Given the description of an element on the screen output the (x, y) to click on. 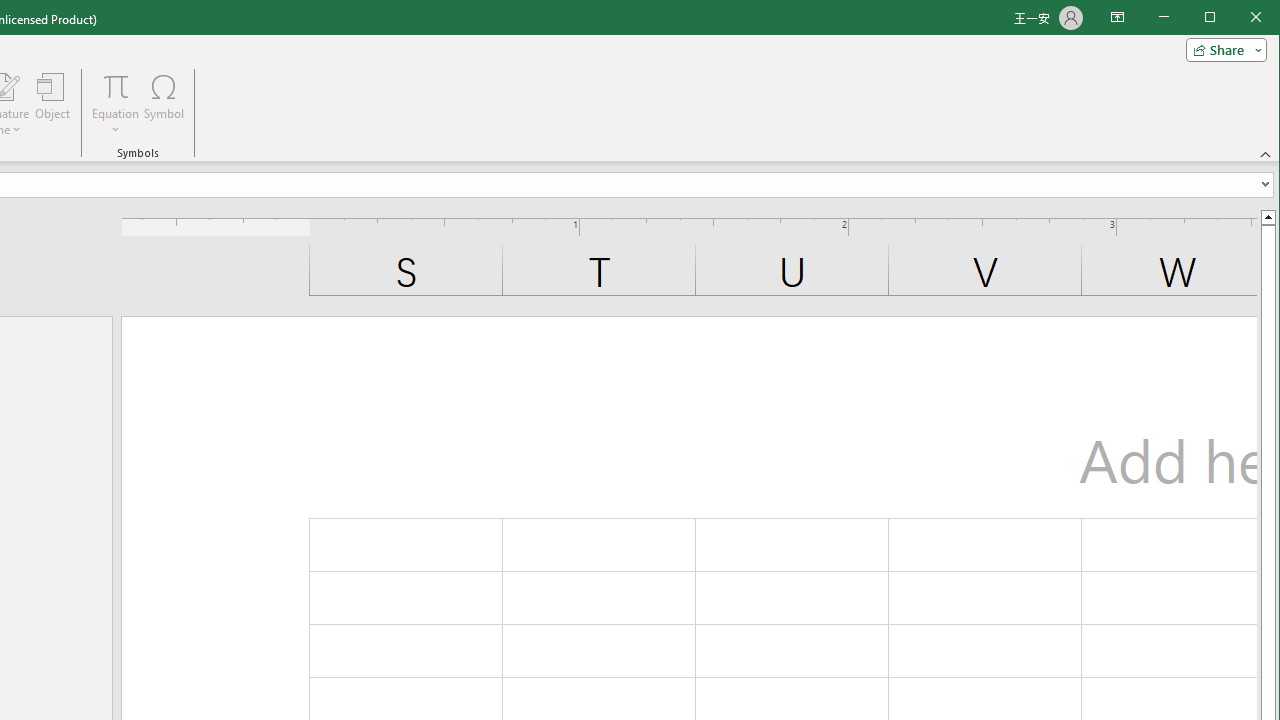
Equation (115, 86)
Maximize (1238, 18)
Object... (53, 104)
Equation (115, 104)
Symbol... (164, 104)
